Given the description of an element on the screen output the (x, y) to click on. 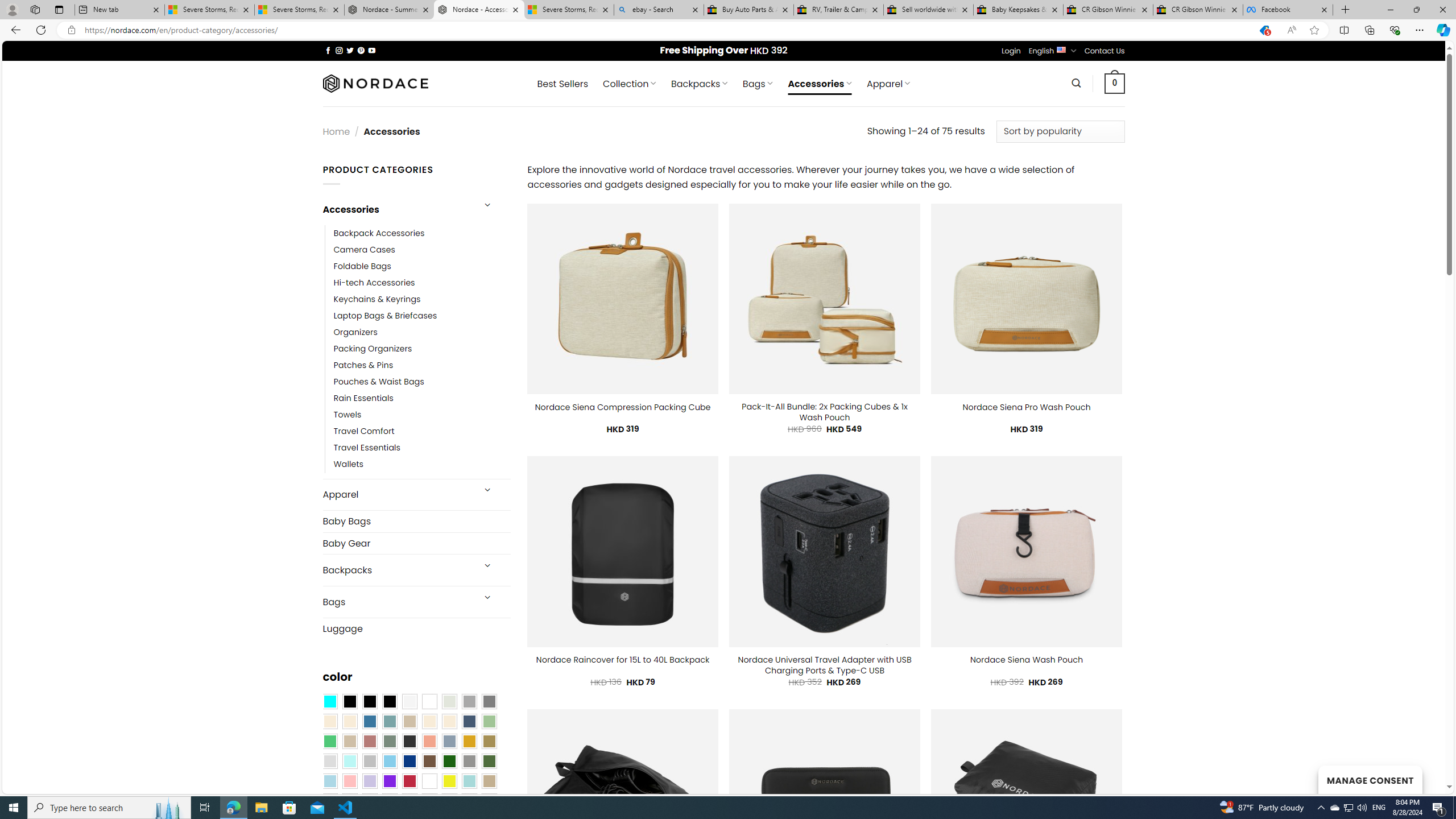
Baby Keepsakes & Announcements for sale | eBay (1018, 9)
Emerald Green (329, 741)
Tab actions menu (58, 9)
Sky Blue (389, 761)
Cream (449, 721)
Packing Organizers (422, 348)
Baby Bags (416, 521)
Beige-Brown (349, 721)
Copilot (Ctrl+Shift+.) (1442, 29)
Travel Essentials (366, 448)
